Given the description of an element on the screen output the (x, y) to click on. 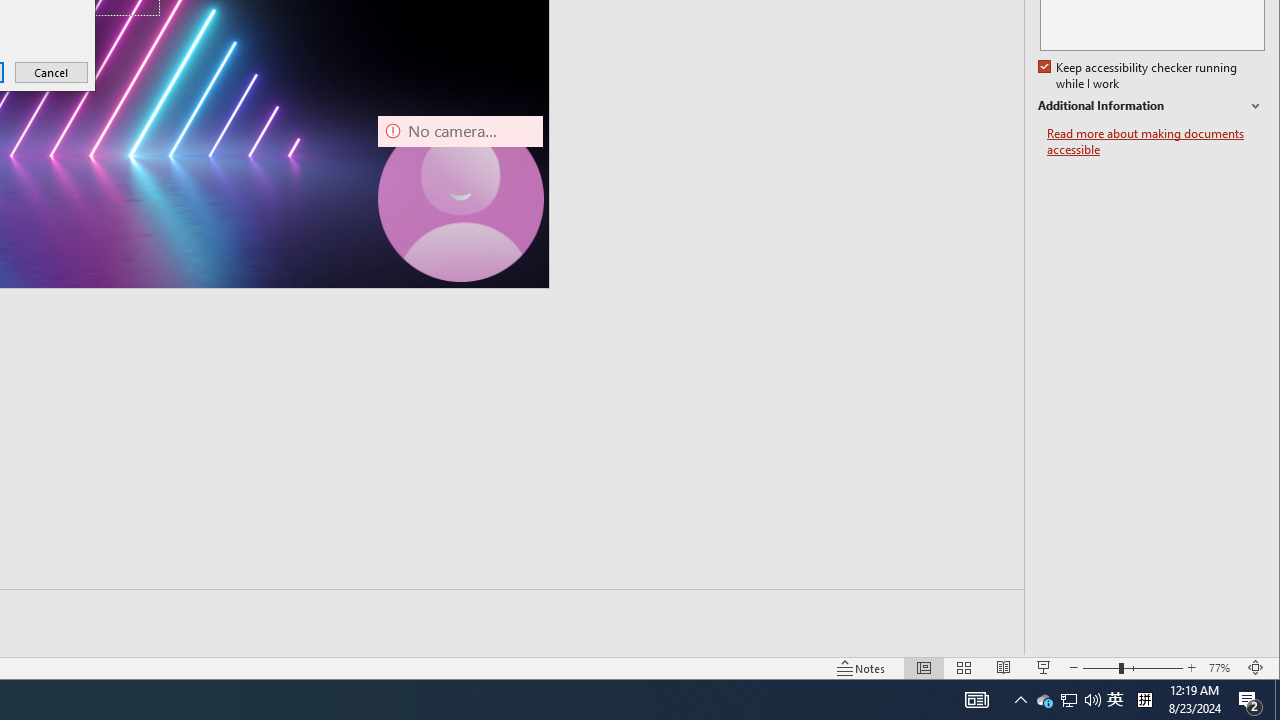
Zoom 77% (1222, 668)
